Given the description of an element on the screen output the (x, y) to click on. 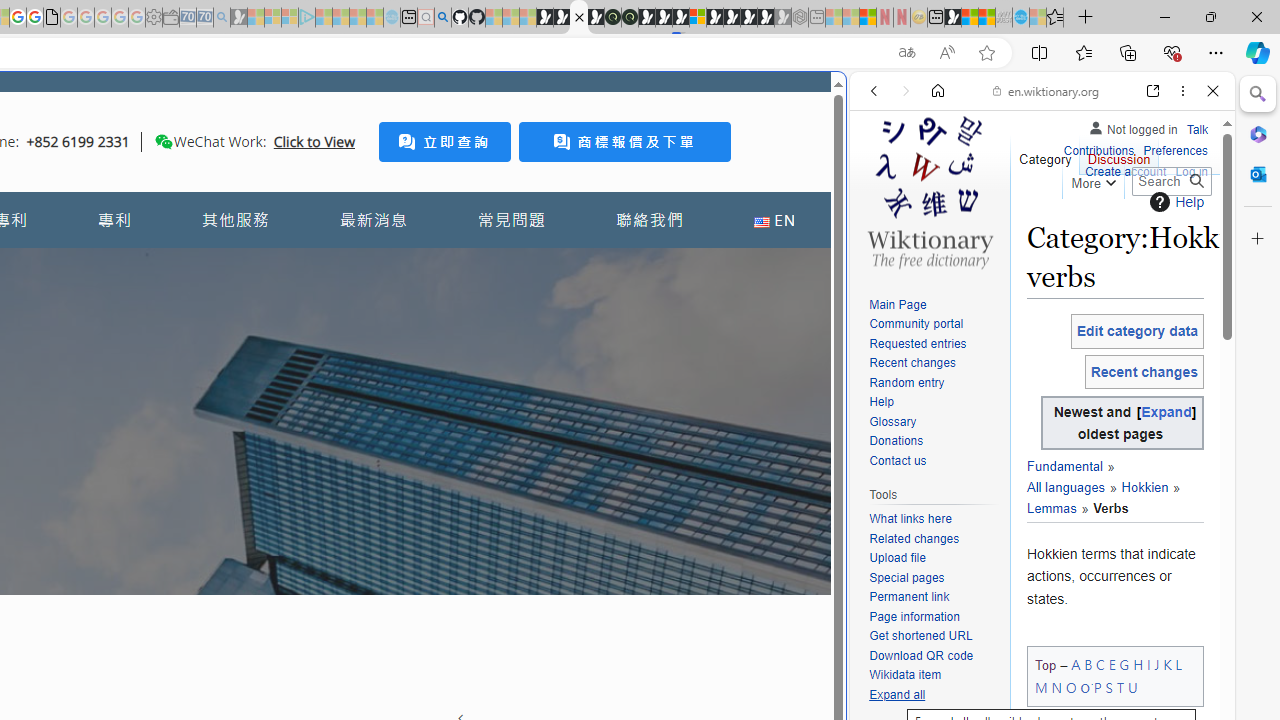
Donations (896, 441)
Create account (1125, 169)
Glossary (892, 421)
Not logged in (1132, 126)
Expand all (934, 695)
Future Focus Report 2024 (629, 17)
Discussion (1118, 154)
More (1092, 179)
Page information (914, 616)
Wikidata item (934, 676)
